Given the description of an element on the screen output the (x, y) to click on. 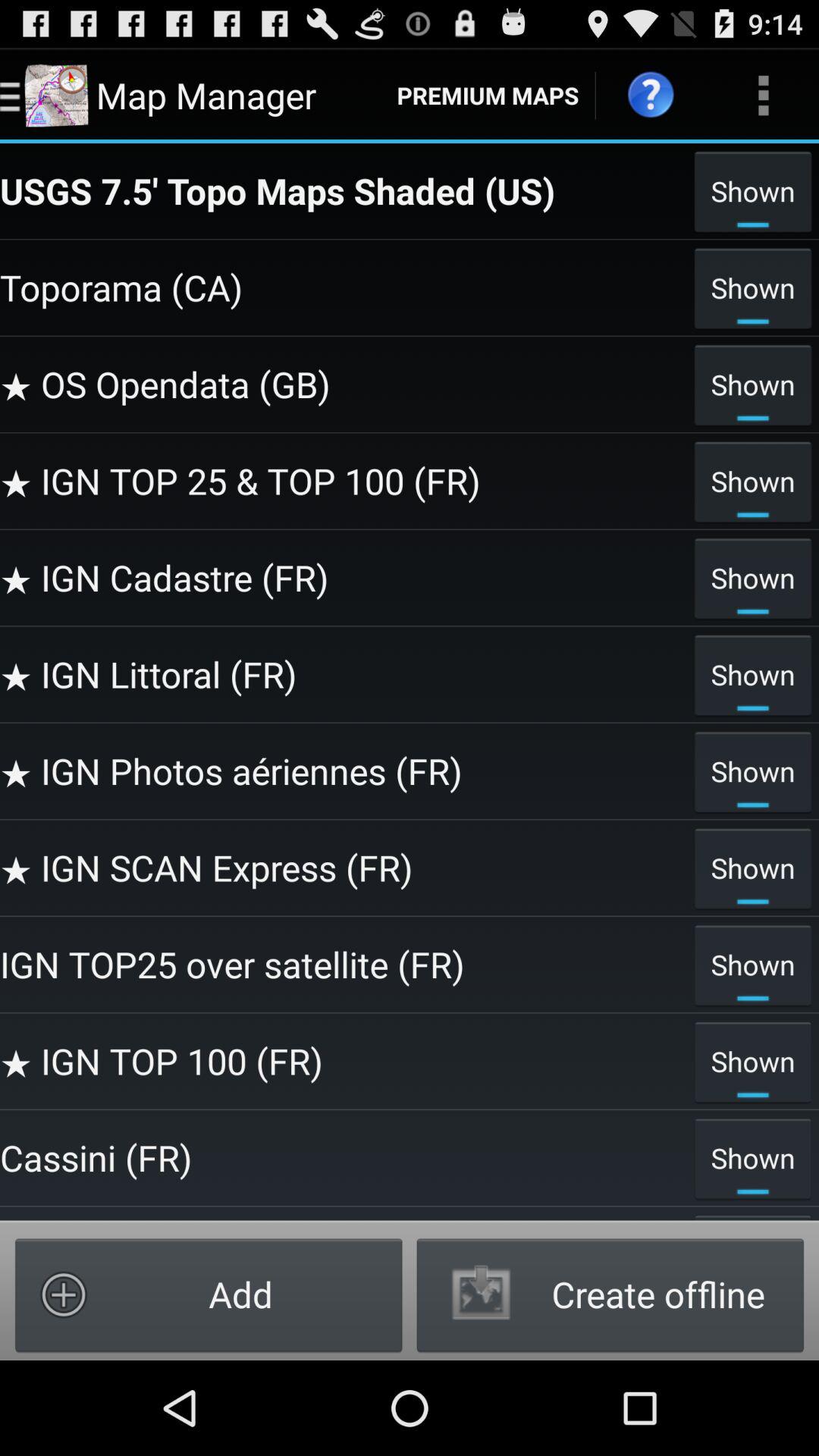
click icon below the premium maps item (343, 190)
